Given the description of an element on the screen output the (x, y) to click on. 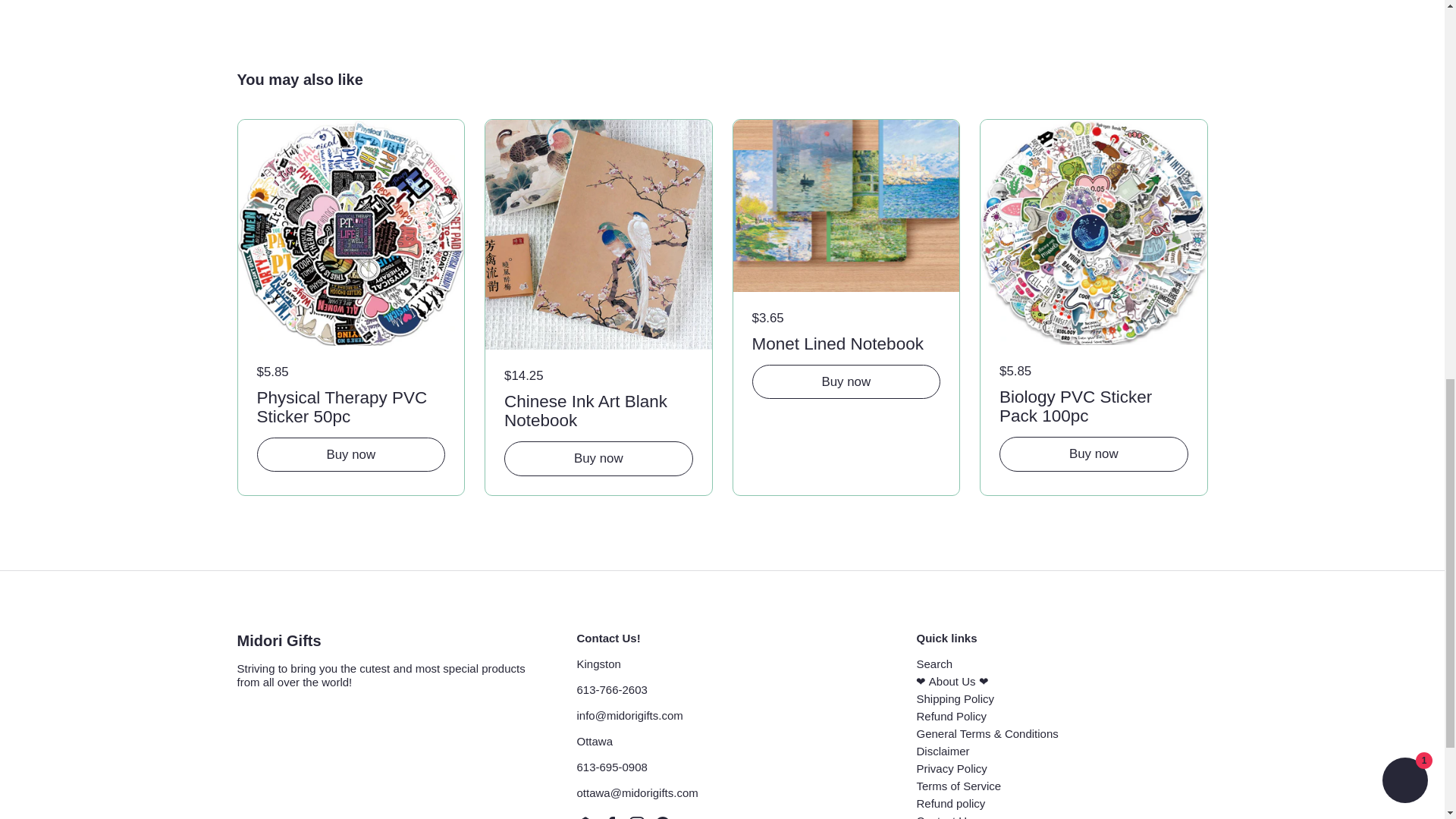
Biology PVC Sticker Pack 100pc (1093, 403)
Monet Lined Notebook (846, 341)
Chinese Ink Art Blank Notebook (598, 408)
Physical Therapy PVC Sticker 50pc (350, 404)
